Given the description of an element on the screen output the (x, y) to click on. 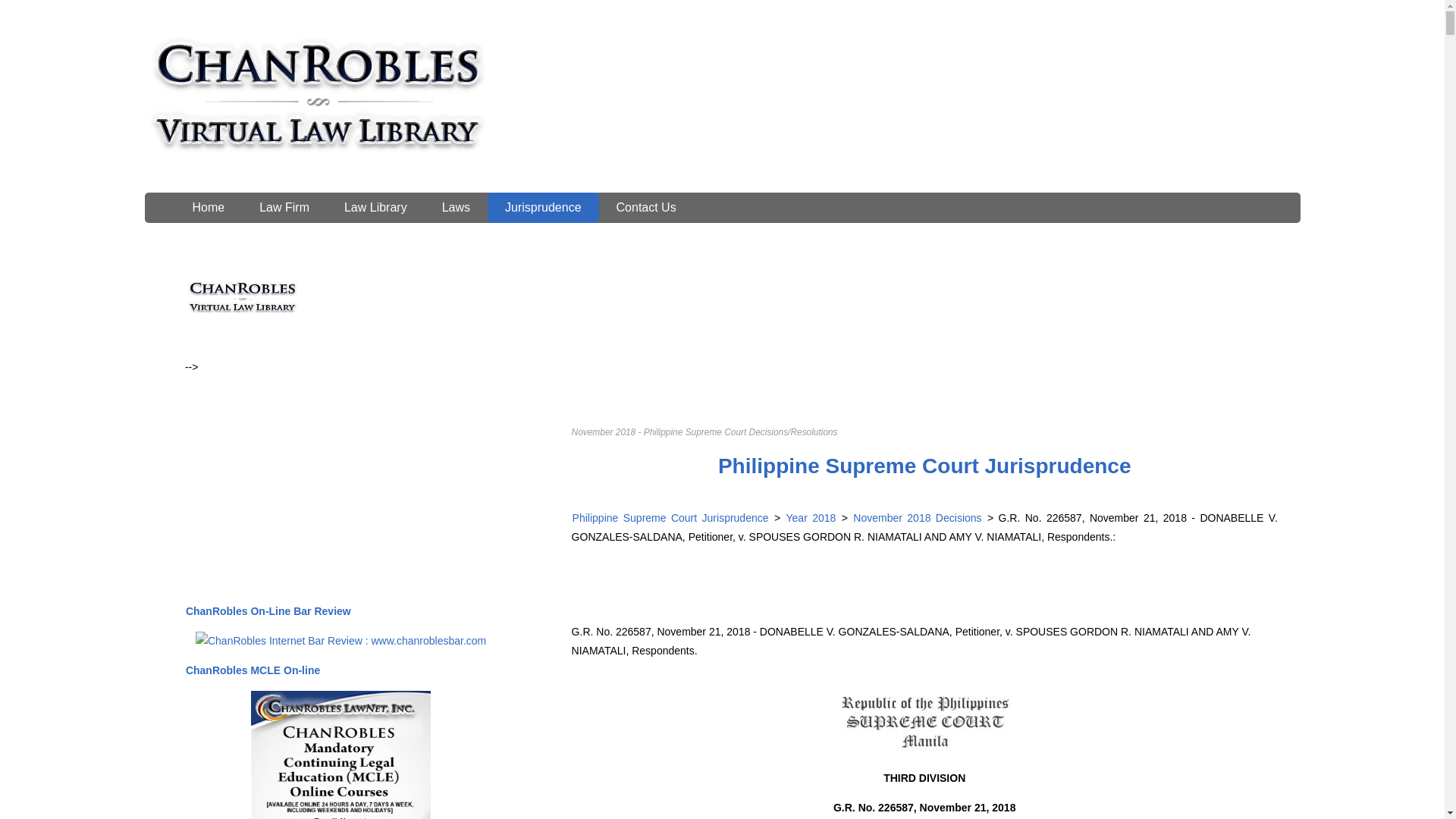
Law Library (375, 207)
Philippine Supreme Court Jurisprudence (924, 465)
Law Firm (283, 207)
November 2018 Decisions (914, 517)
ChanRobles MCLE On-line (252, 670)
Contact Us (646, 207)
Philippine Supreme Court Jurisprudence (671, 517)
Year 2018 (811, 517)
Jurisprudence (542, 207)
ChanRobles On-Line Bar Review (268, 611)
Home (207, 207)
Laws (456, 207)
